Given the description of an element on the screen output the (x, y) to click on. 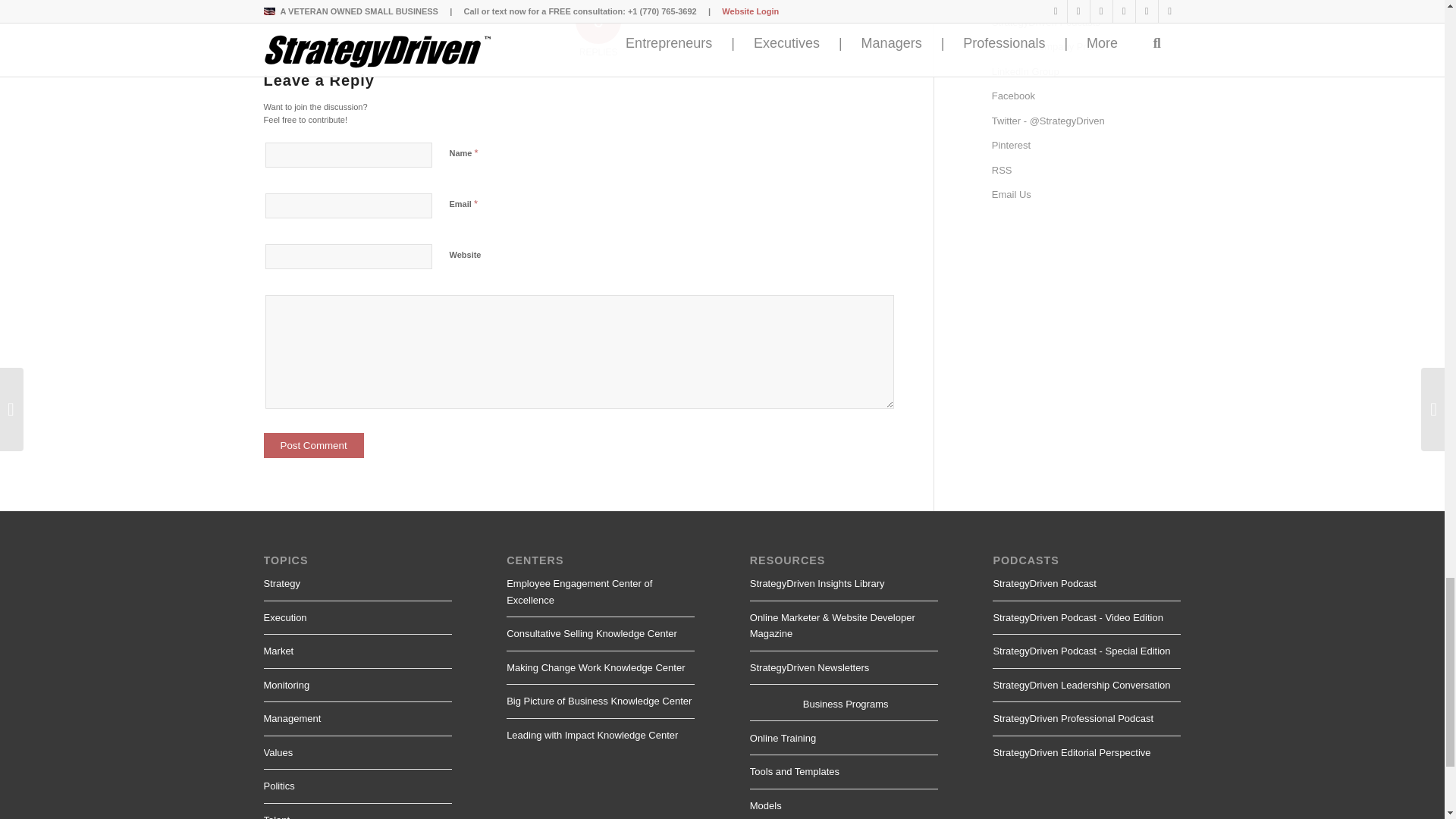
Post Comment (313, 445)
